Given the description of an element on the screen output the (x, y) to click on. 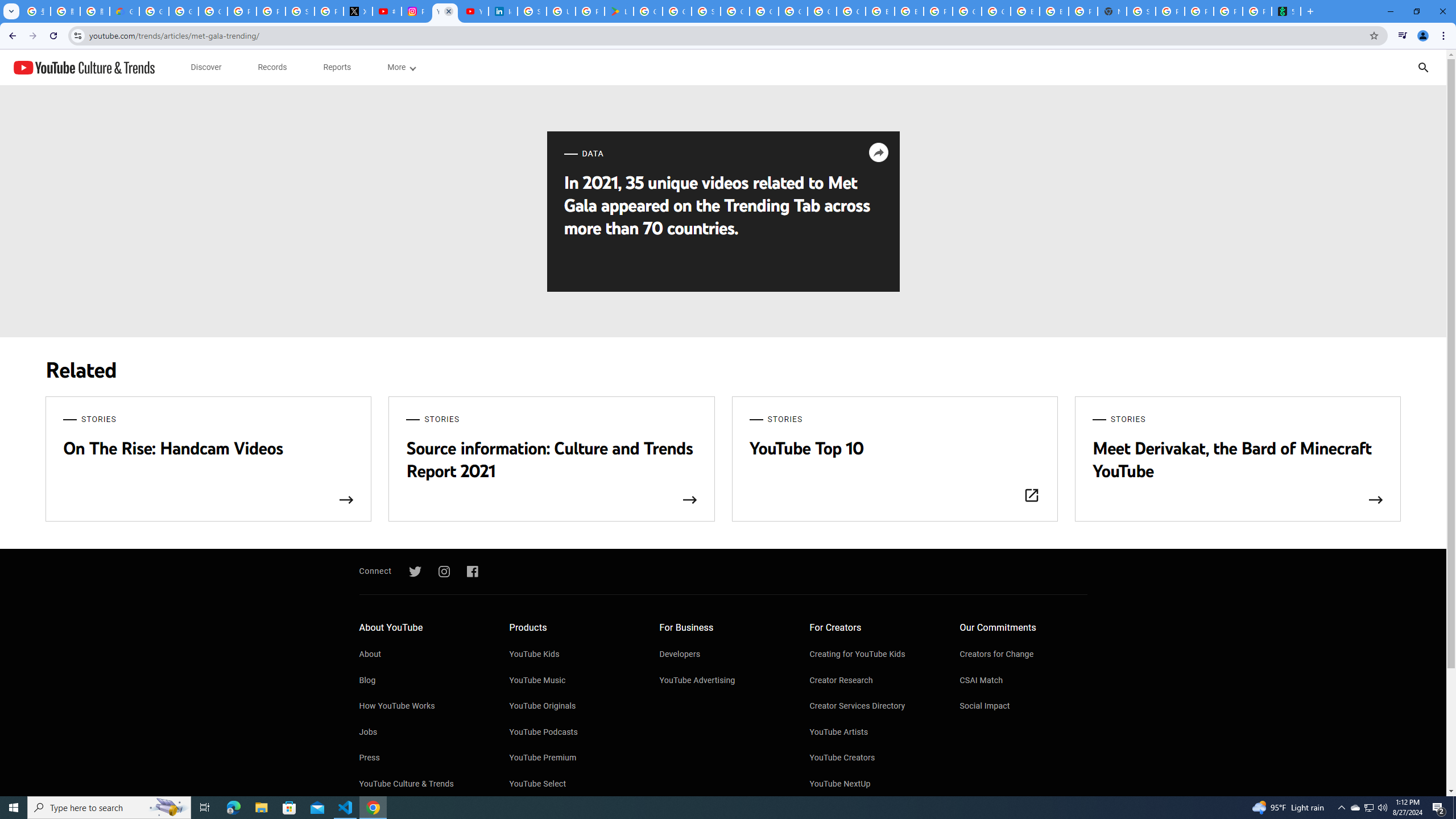
STORIES Source information: Culture and Trends Report 2021 (551, 459)
YouTube Premium (573, 758)
YouTube Kids (573, 655)
subnav-More menupopup (401, 67)
Twitter (414, 571)
Privacy Help Center - Policies Help (271, 11)
Creators for Change (1023, 655)
Sign in - Google Accounts (300, 11)
Google Cloud Platform (967, 11)
YouTube Advertising (723, 681)
STORIES On The Rise: Handcam Videos (208, 459)
Privacy Checkup (1227, 11)
STORIES Meet Derivakat, the Bard of Minecraft YouTube (1237, 459)
